Given the description of an element on the screen output the (x, y) to click on. 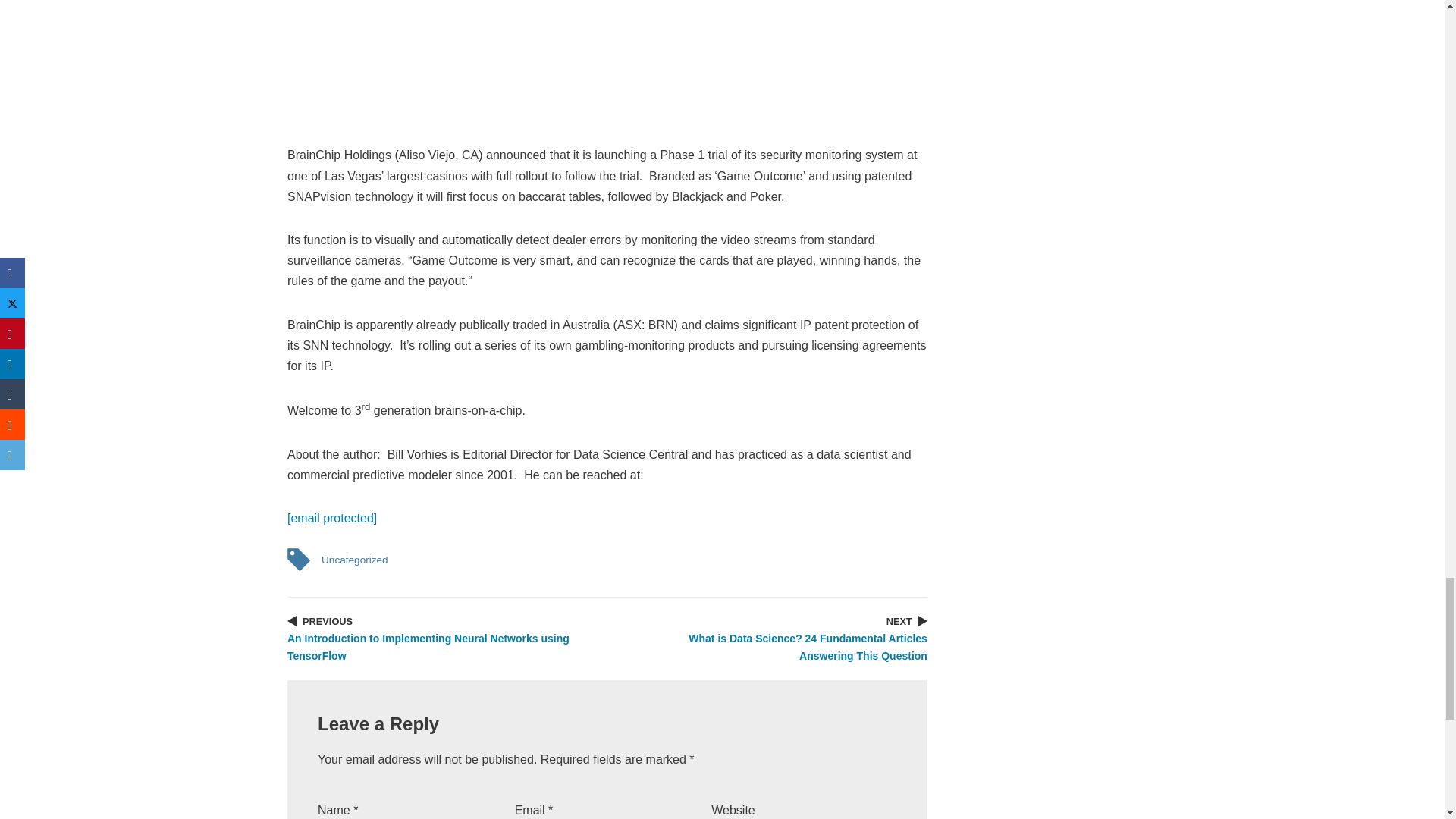
Uncategorized (354, 560)
